Given the description of an element on the screen output the (x, y) to click on. 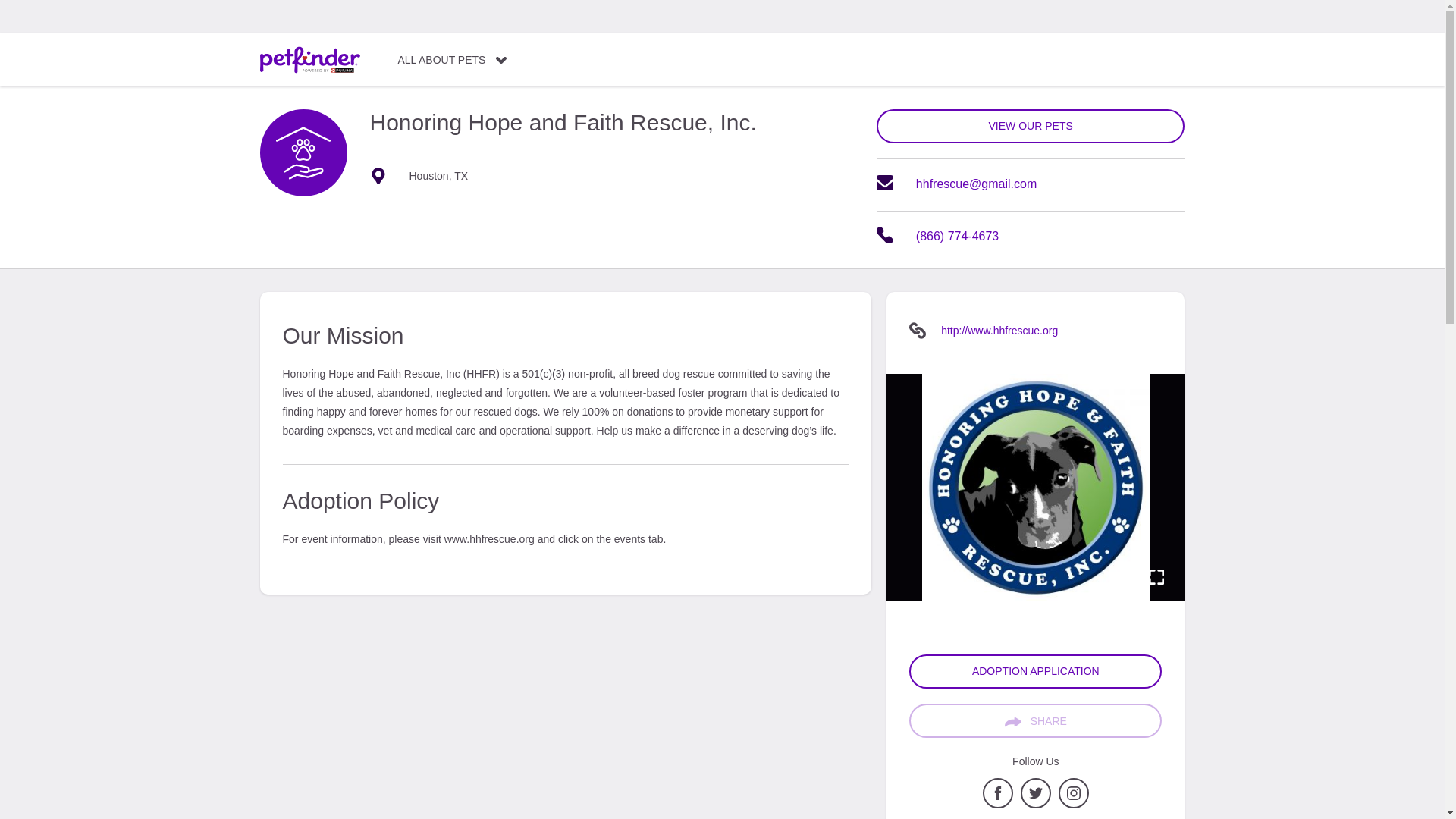
Follow Us on Facebook (997, 804)
Follow Us on Instagram (1073, 804)
Follow Us on Twitter (1035, 804)
ALL ABOUT PETS (451, 60)
